Given the description of an element on the screen output the (x, y) to click on. 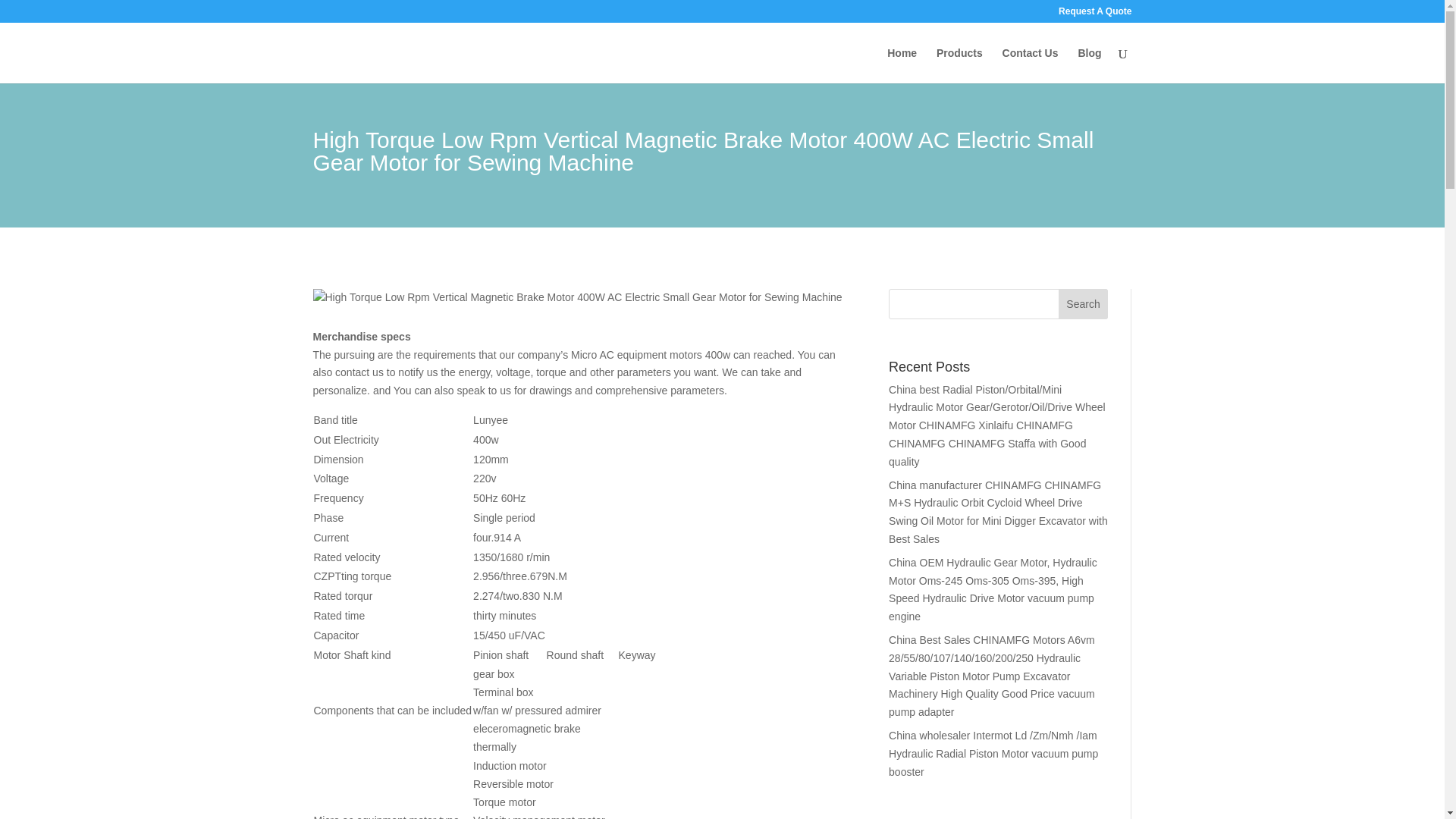
Search (1083, 304)
Products (959, 65)
Contact Us (1030, 65)
Search (1083, 304)
Request A Quote (1094, 14)
